Given the description of an element on the screen output the (x, y) to click on. 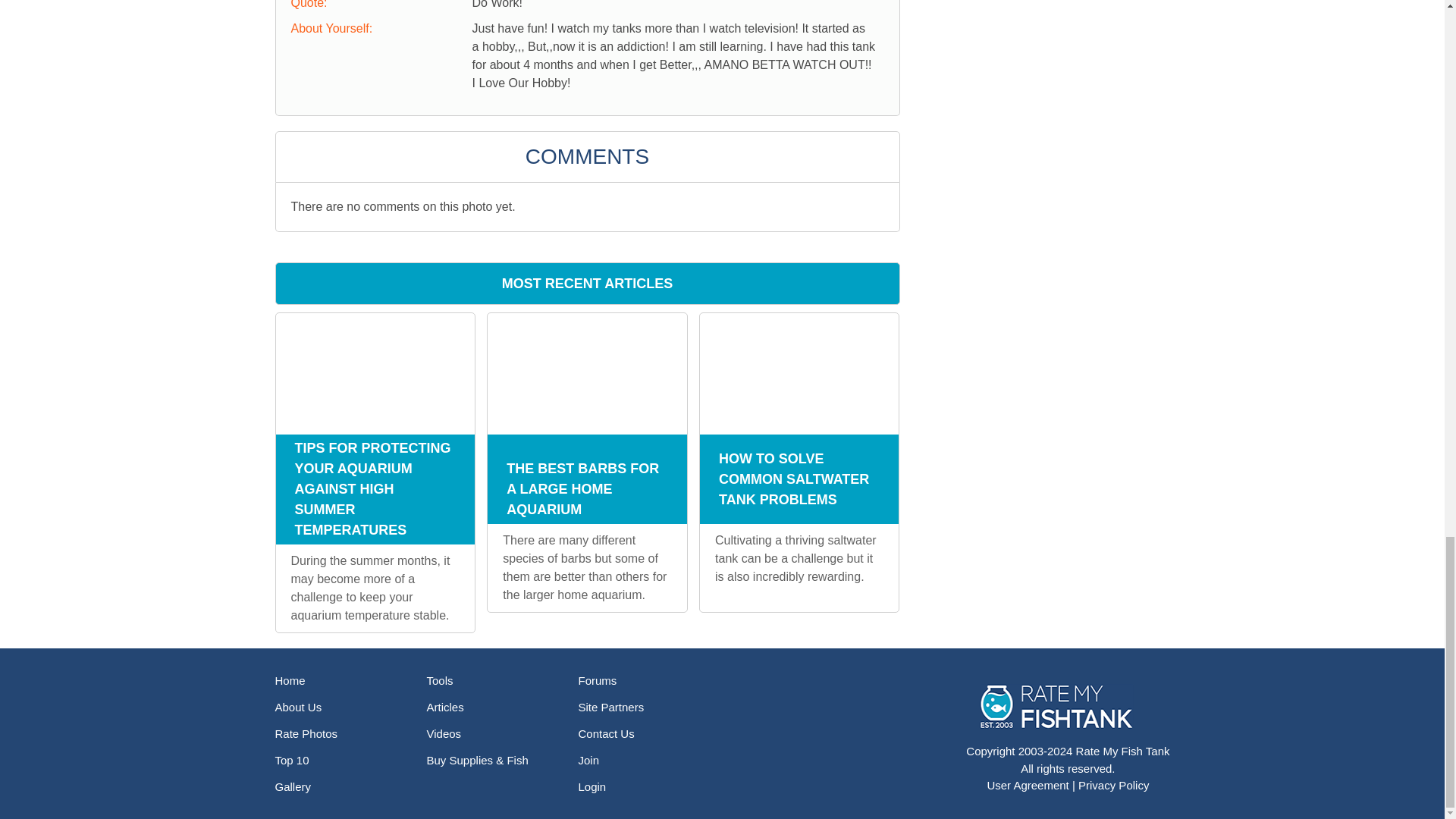
Gallery (293, 786)
How to Solve Common Saltwater Tank Problems (799, 373)
Articles (444, 707)
Top 10 (291, 759)
How to Solve Common Saltwater Tank Problems (798, 374)
Home (289, 680)
The Best Barbs for a Large Home Aquarium (587, 373)
Rate My Fishtank - Established 2003 (1058, 704)
The Best Barbs for a Large Home Aquarium (586, 373)
HOW TO SOLVE COMMON SALTWATER TANK PROBLEMS (799, 479)
About Us (298, 707)
Tools (439, 680)
